Given the description of an element on the screen output the (x, y) to click on. 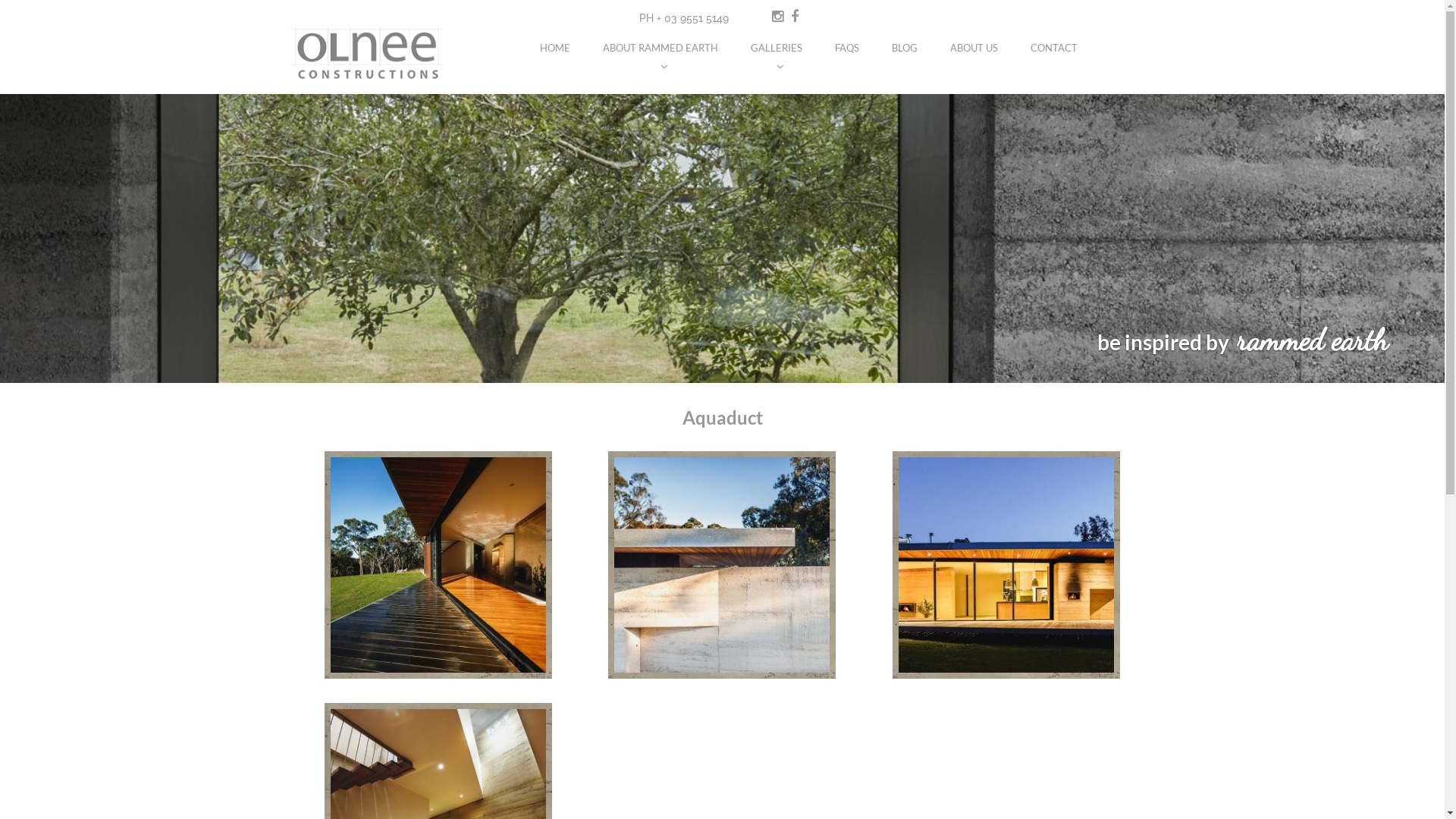
+ 03 9551 5149 Element type: text (692, 18)
ABOUT US Element type: text (974, 40)
ABOUT RAMMED EARTH Element type: text (660, 40)
HOME Element type: text (554, 40)
Instagram Element type: hover (777, 16)
FAQS Element type: text (846, 40)
CONTACT Element type: text (1053, 40)
BLOG Element type: text (904, 40)
GALLERIES Element type: text (776, 40)
Facebook Element type: hover (793, 16)
Olnee Constructions Element type: text (401, 91)
